Given the description of an element on the screen output the (x, y) to click on. 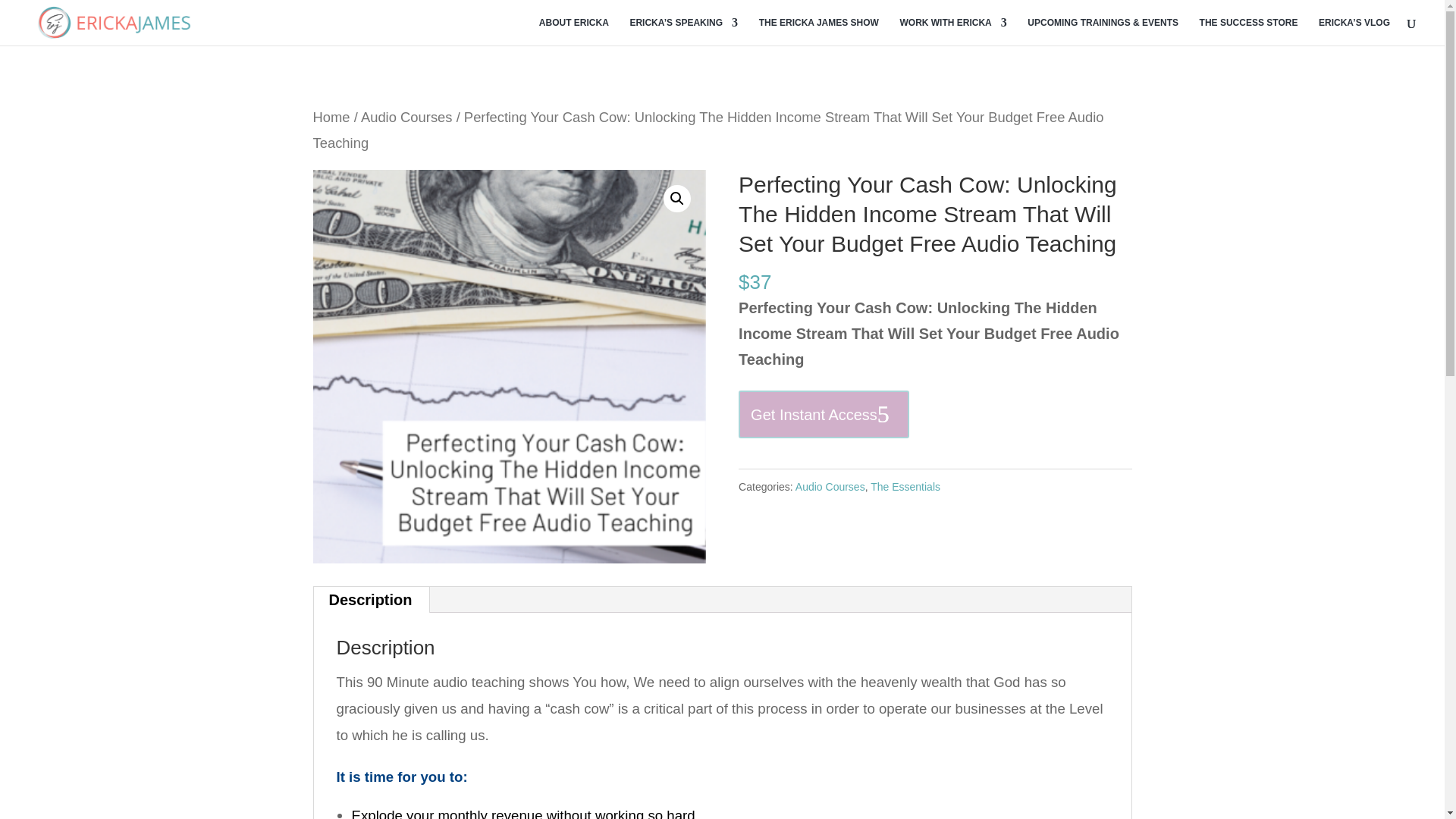
THE ERICKA JAMES SHOW (818, 31)
Get Instant Access (823, 414)
Description (371, 599)
Audio Courses (829, 486)
THE SUCCESS STORE (1248, 31)
Audio Courses (406, 116)
WORK WITH ERICKA (952, 31)
Home (331, 116)
ABOUT ERICKA (573, 31)
The Essentials (905, 486)
